Given the description of an element on the screen output the (x, y) to click on. 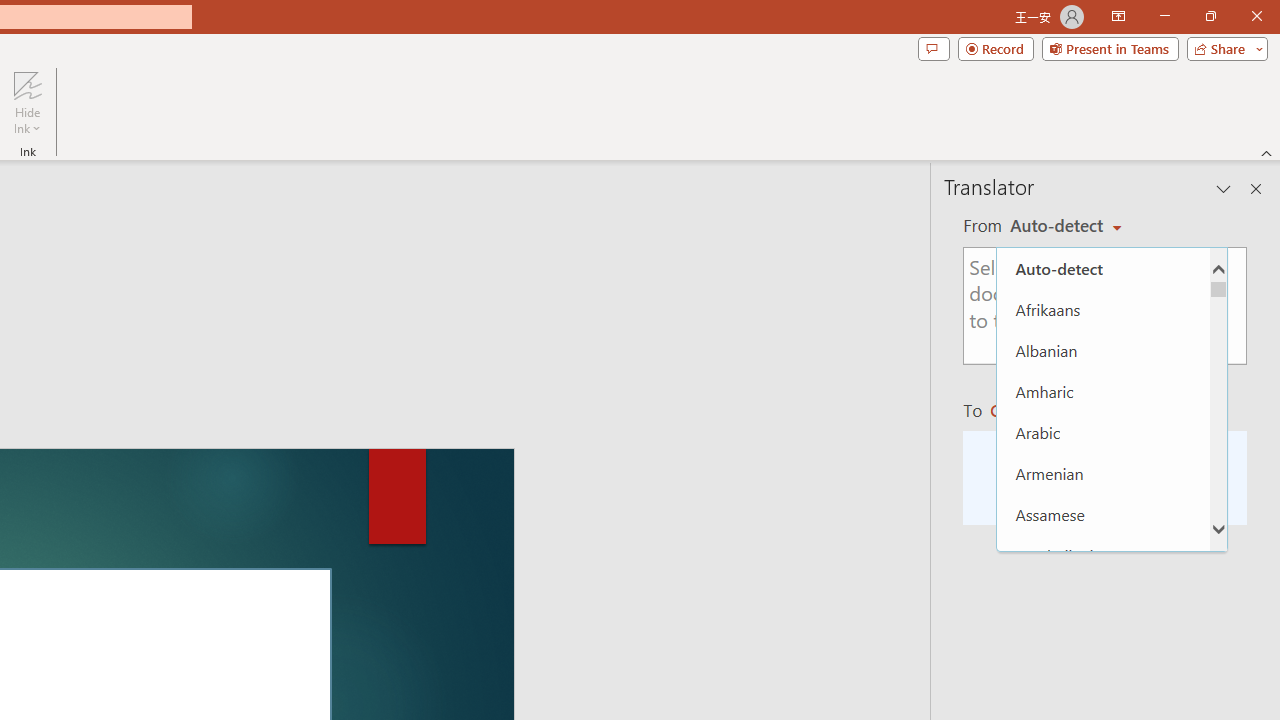
Arabic (1103, 431)
Amharic (1103, 390)
Hide Ink (27, 102)
Assamese (1103, 513)
Hide Ink (27, 84)
Swap "from" and "to" languages. (1105, 383)
Albanian (1103, 349)
Czech (1030, 409)
